Given the description of an element on the screen output the (x, y) to click on. 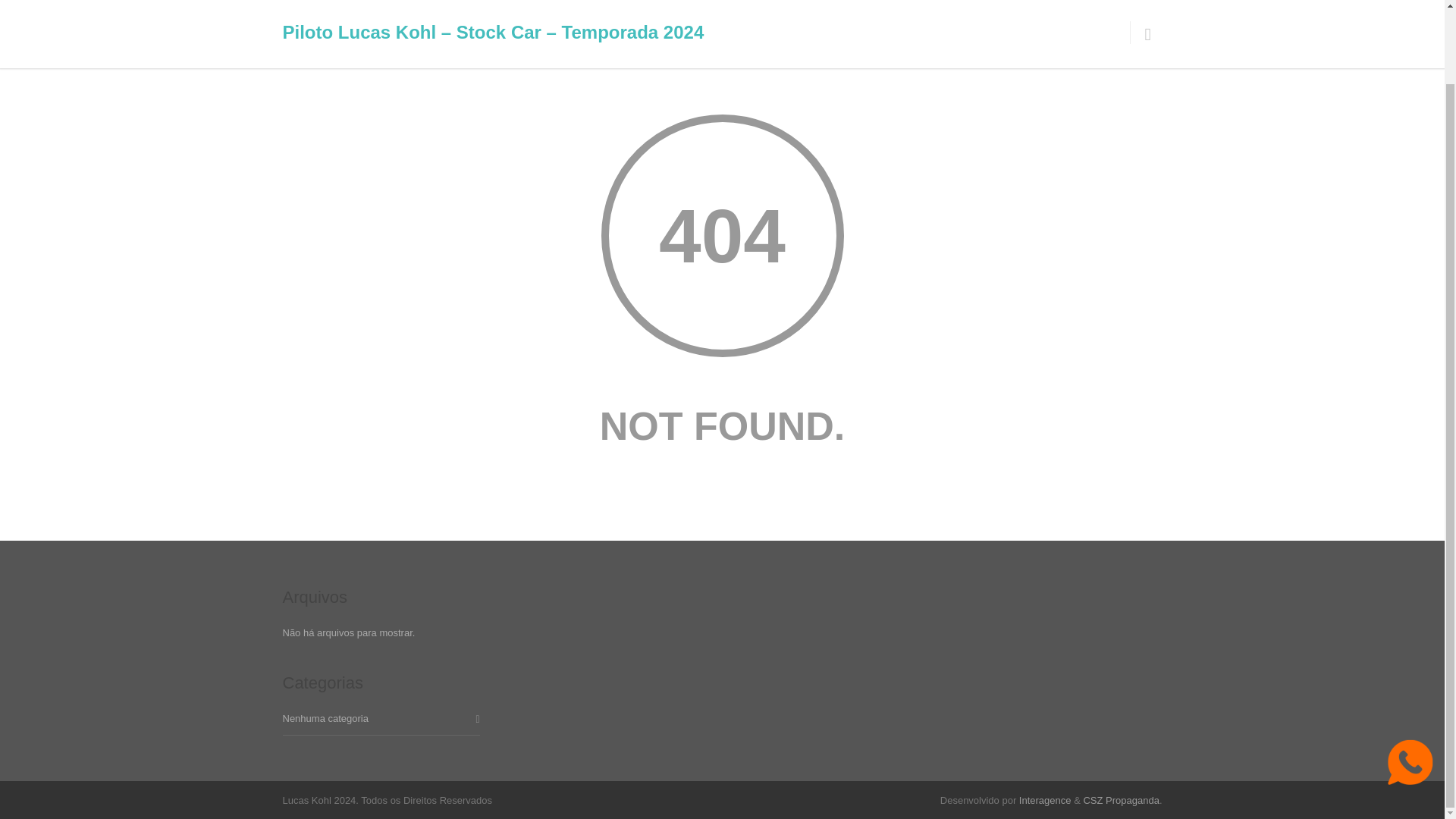
Interagence (1045, 799)
CSZ Propaganda (1120, 799)
Piloto Lucas Kohl - Stock Car - Temporada 2024 (1015, 12)
